Given the description of an element on the screen output the (x, y) to click on. 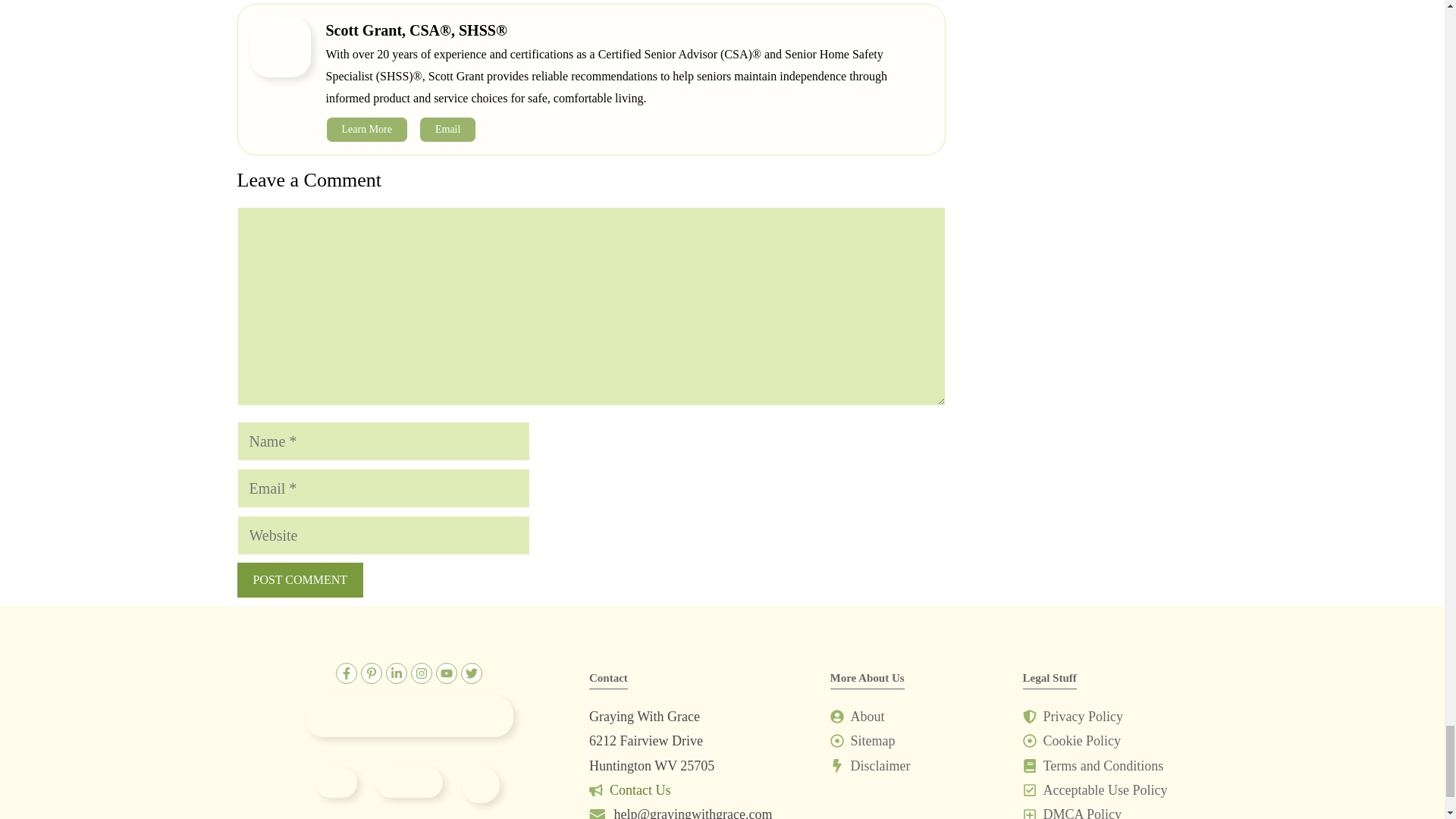
certified senior home safety specialist 50 (480, 785)
resna-atp-logo-1 (408, 782)
Post Comment (298, 579)
Site Logo (408, 716)
